Given the description of an element on the screen output the (x, y) to click on. 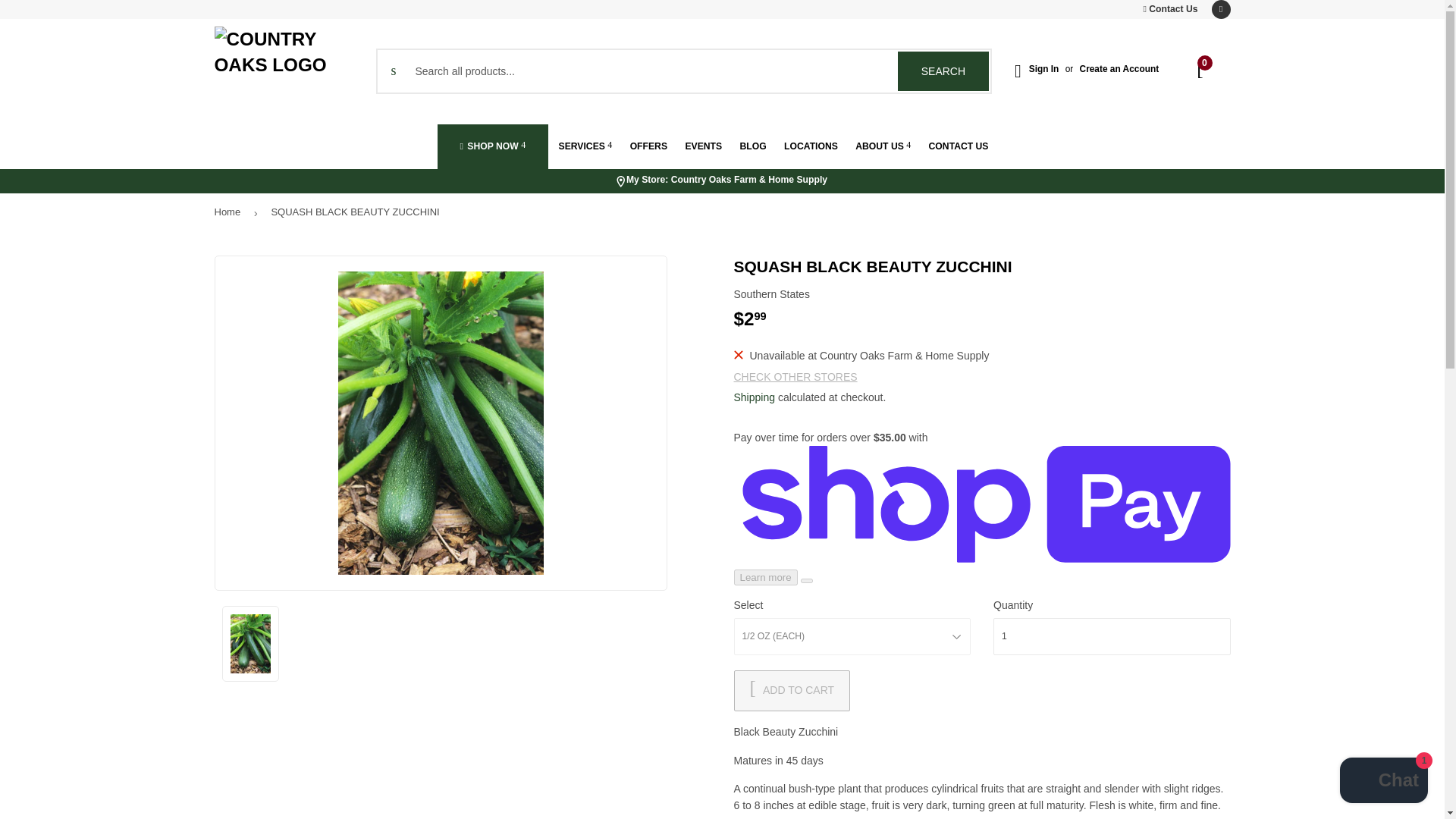
Sign In (1044, 68)
Open Product Zoom (441, 422)
0 (1201, 71)
Facebook (1220, 9)
Create an Account (1119, 68)
View all stores (727, 181)
Country Oaks Town-N-Country on Facebook (943, 70)
Back to the frontpage (1220, 9)
 Contact Us (230, 212)
1 (1169, 9)
Shopify online store chat (1111, 636)
